Given the description of an element on the screen output the (x, y) to click on. 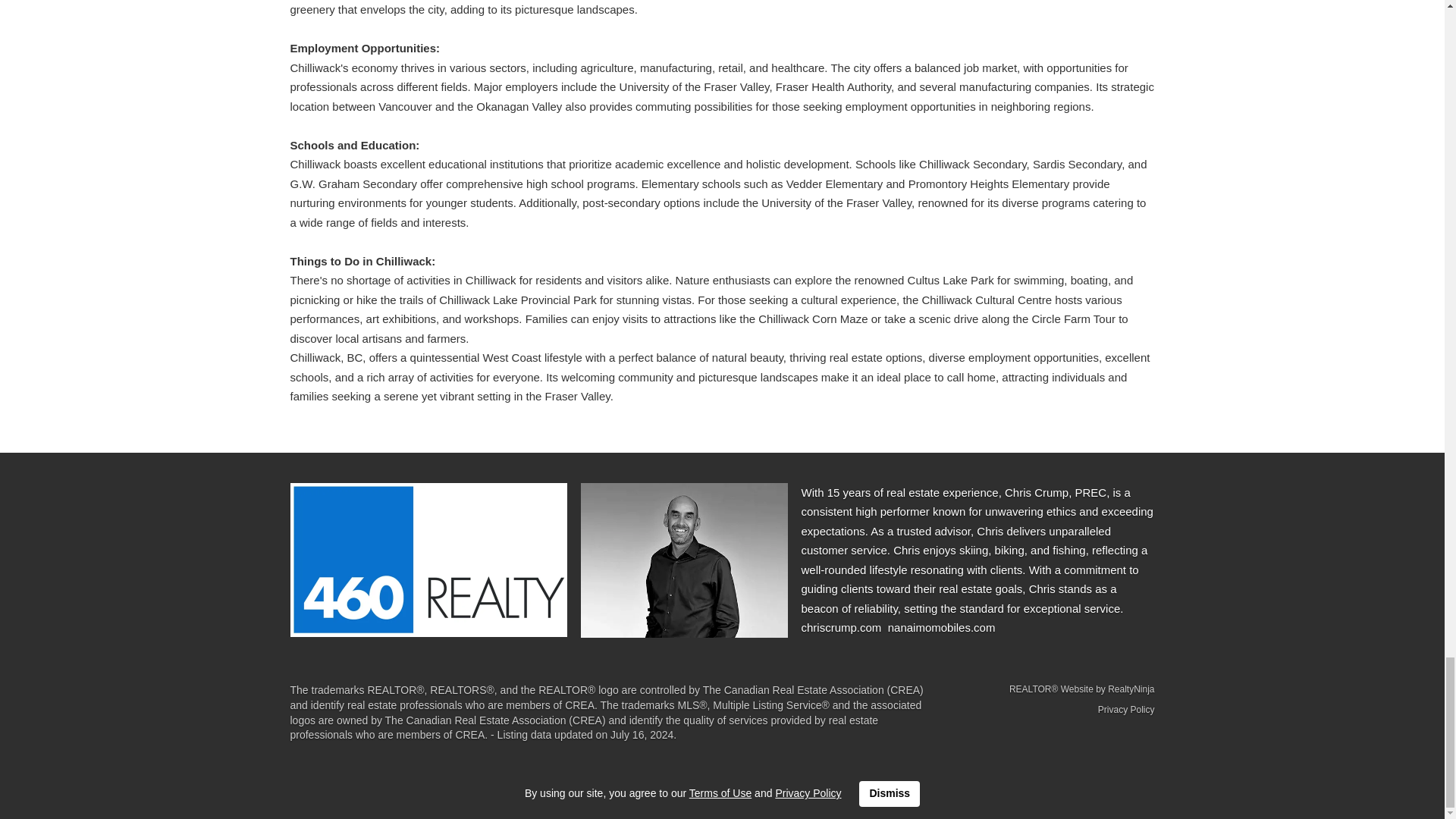
460 Realty (427, 560)
